Given the description of an element on the screen output the (x, y) to click on. 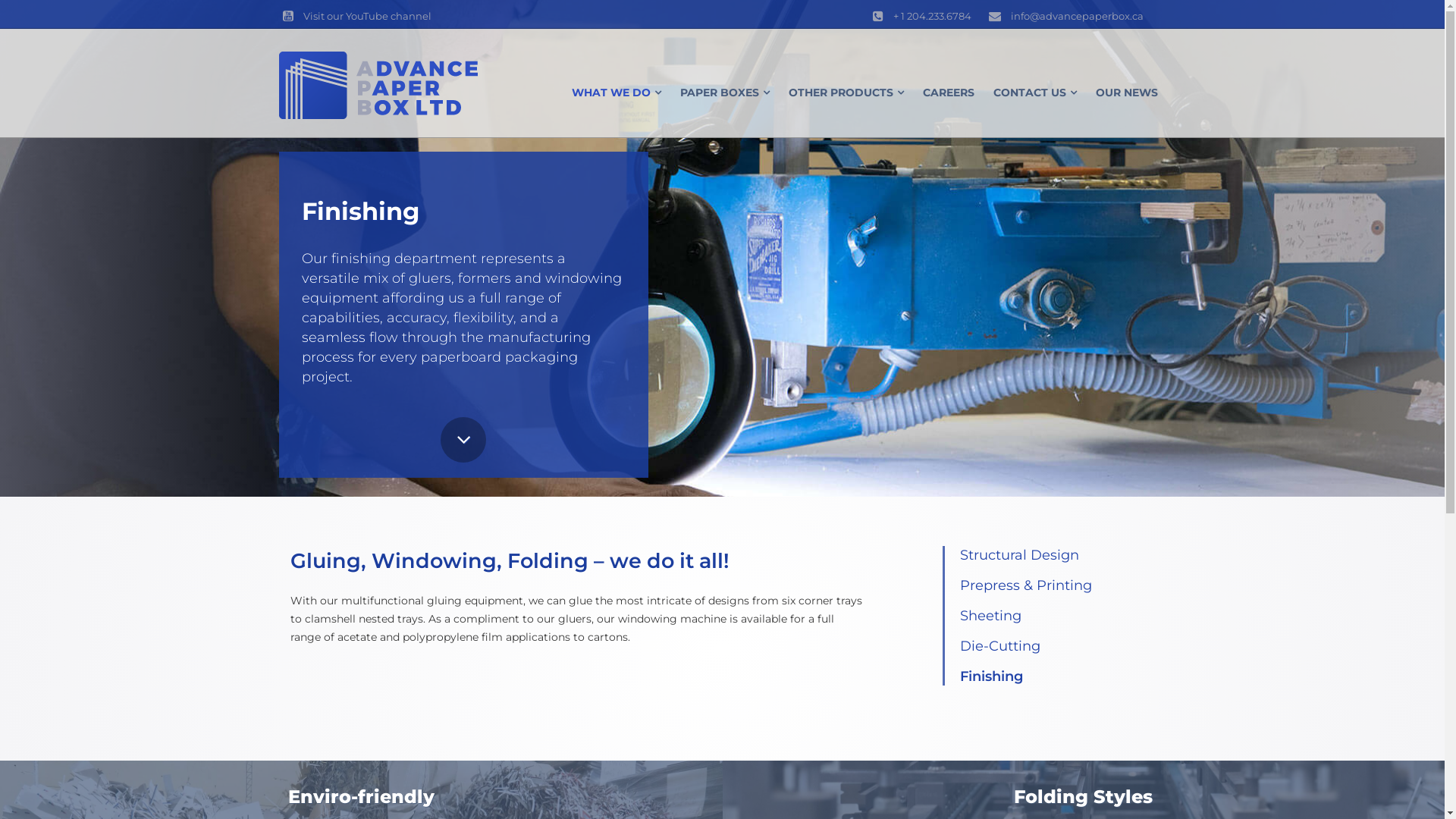
Finishing Element type: text (991, 676)
Advance Paper Box Ltd. - Winnipeg, Canada Element type: hover (378, 84)
CAREERS Element type: text (947, 92)
Die-Cutting Element type: text (1000, 645)
Advance Paper Box Ltd. - Winnipeg, Canada Element type: hover (378, 85)
OTHER PRODUCTS Element type: text (846, 92)
info@advancepaperbox.ca Element type: text (1063, 14)
Prepress & Printing Element type: text (1026, 585)
PAPER BOXES Element type: text (723, 92)
Sheeting Element type: text (990, 615)
OUR NEWS Element type: text (1125, 92)
WHAT WE DO Element type: text (616, 92)
Visit our YouTube channel Element type: text (355, 14)
Structural Design Element type: text (1019, 554)
CONTACT US Element type: text (1034, 92)
